Given the description of an element on the screen output the (x, y) to click on. 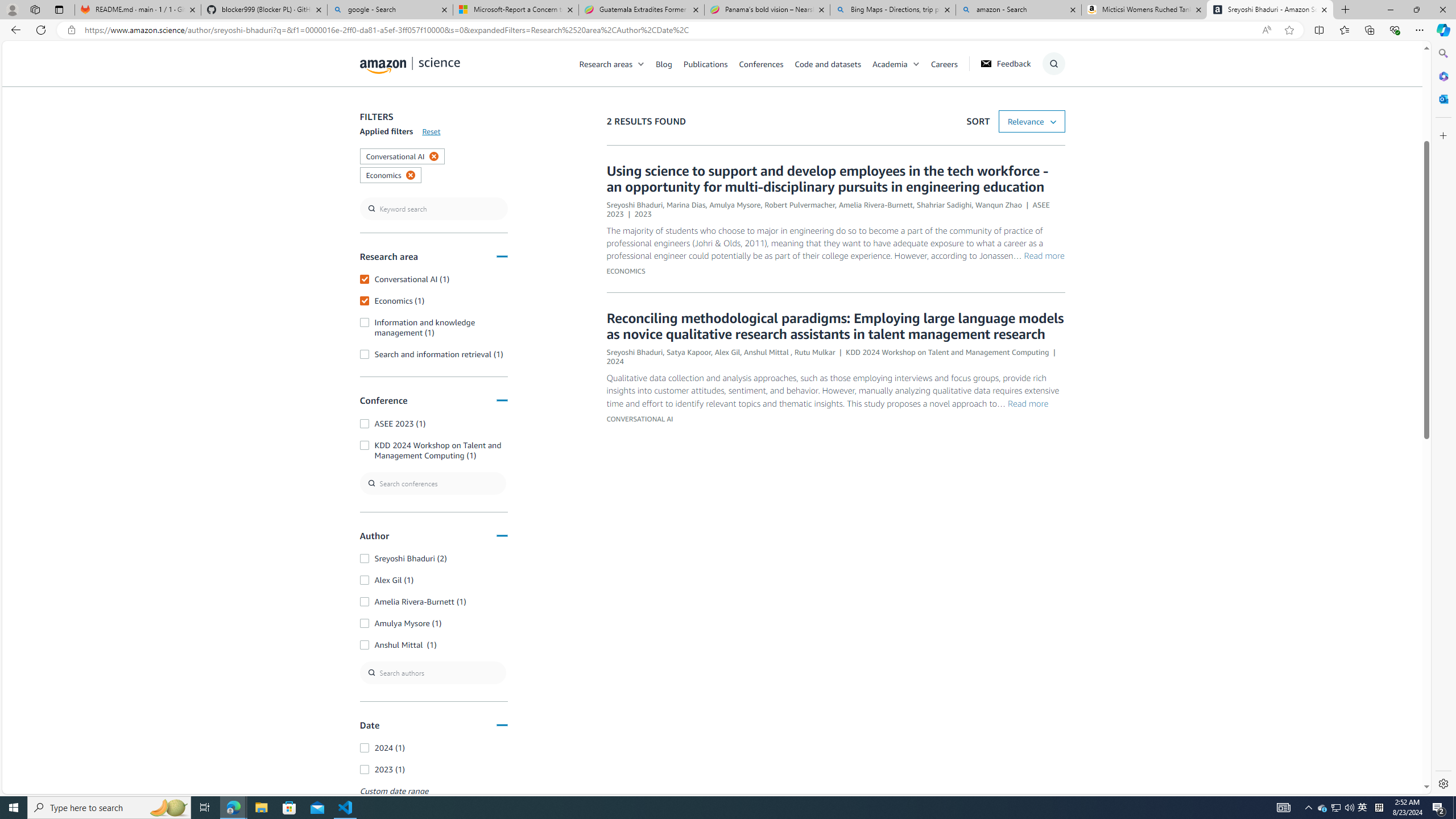
ECONOMICS (625, 271)
Shahriar Sadighi (943, 204)
Outlook (1442, 98)
Publications (705, 63)
Satya Kapoor (688, 352)
